Given the description of an element on the screen output the (x, y) to click on. 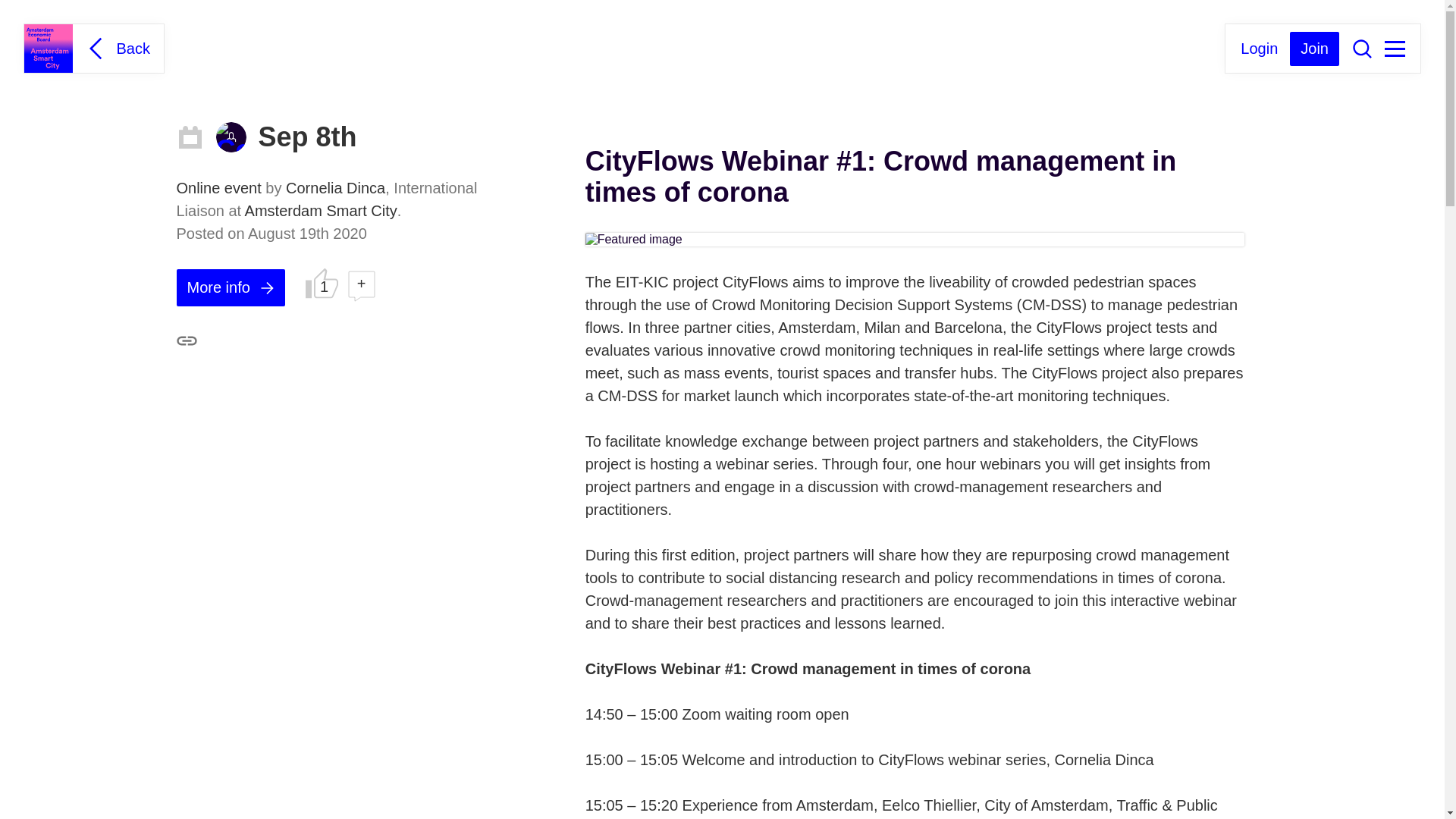
Open menu (1394, 48)
More info (229, 287)
Join (1314, 48)
Search (1362, 47)
Register (1314, 48)
Back (115, 48)
Online event (220, 187)
Cornelia Dinca (230, 137)
Login (1259, 47)
Cornelia Dinca (335, 187)
